Given the description of an element on the screen output the (x, y) to click on. 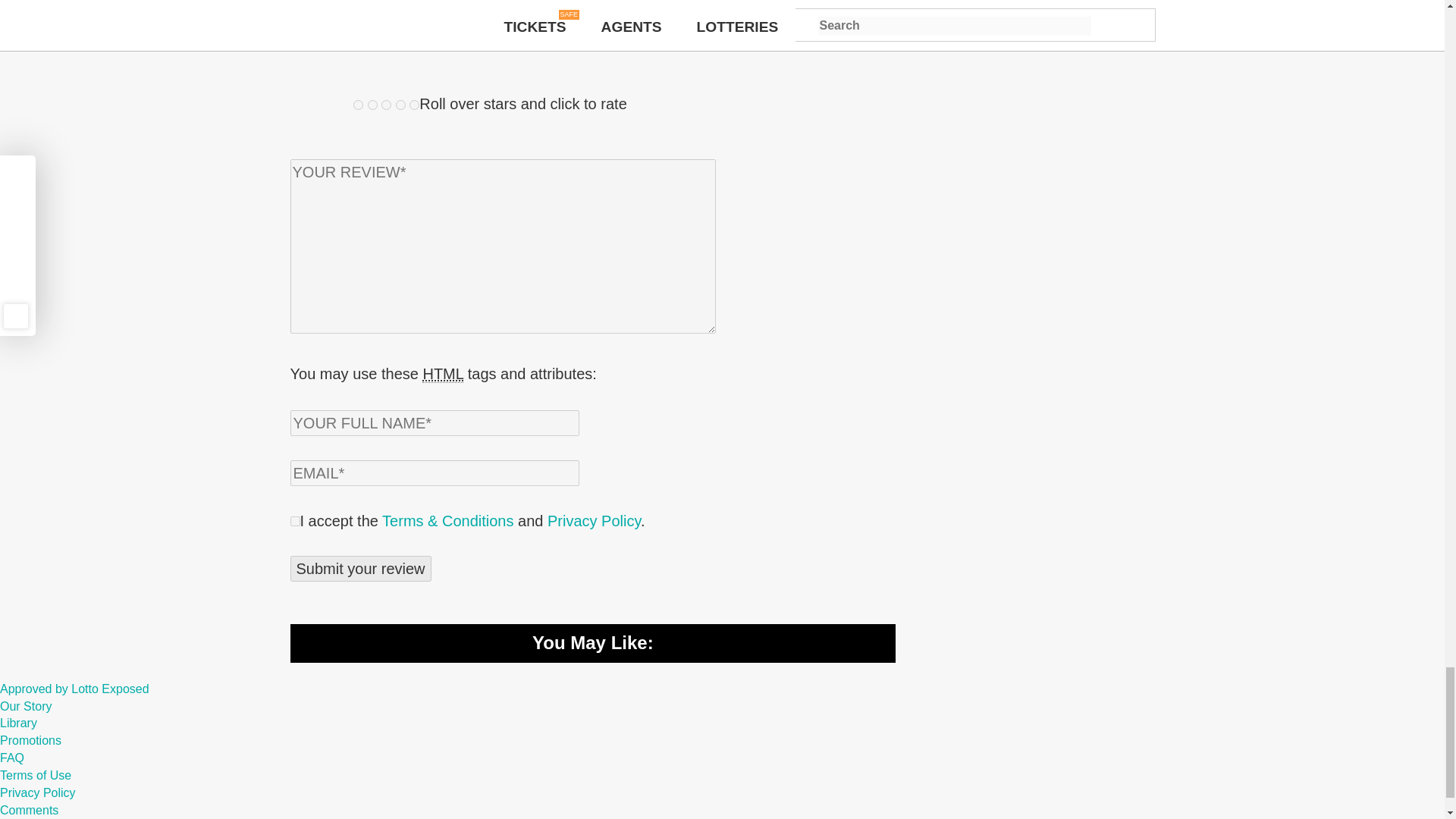
Submit your review (359, 568)
on (294, 521)
Approved by Lotto Exposed (74, 688)
Submit your review (359, 568)
1 (357, 104)
3 (386, 104)
5 (414, 104)
2 (372, 104)
HyperText Markup Language (442, 374)
4 (401, 104)
Approved by Lotto Exposed Badge (74, 688)
Privacy Policy (593, 520)
